Given the description of an element on the screen output the (x, y) to click on. 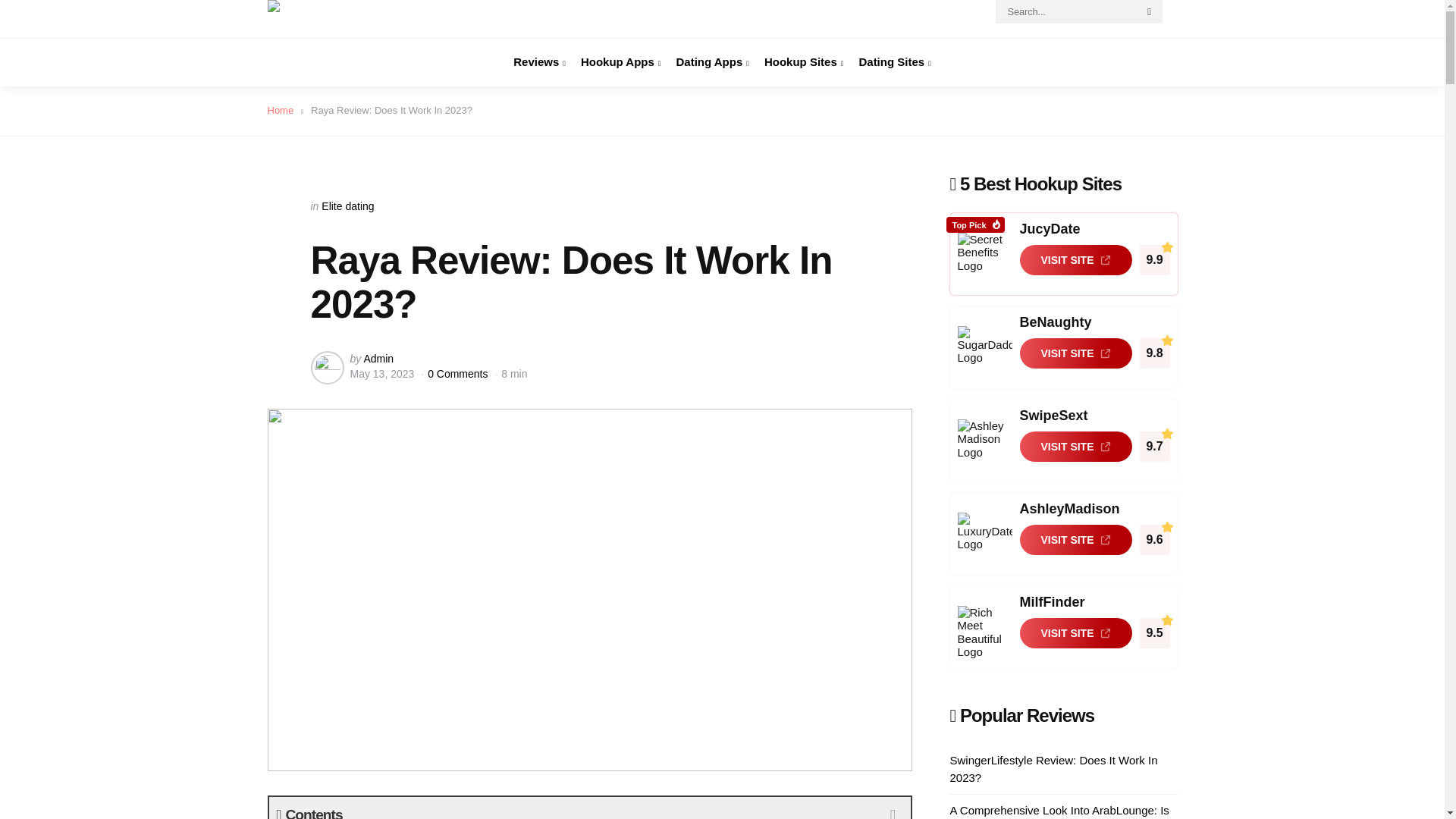
Search (1149, 11)
